Given the description of an element on the screen output the (x, y) to click on. 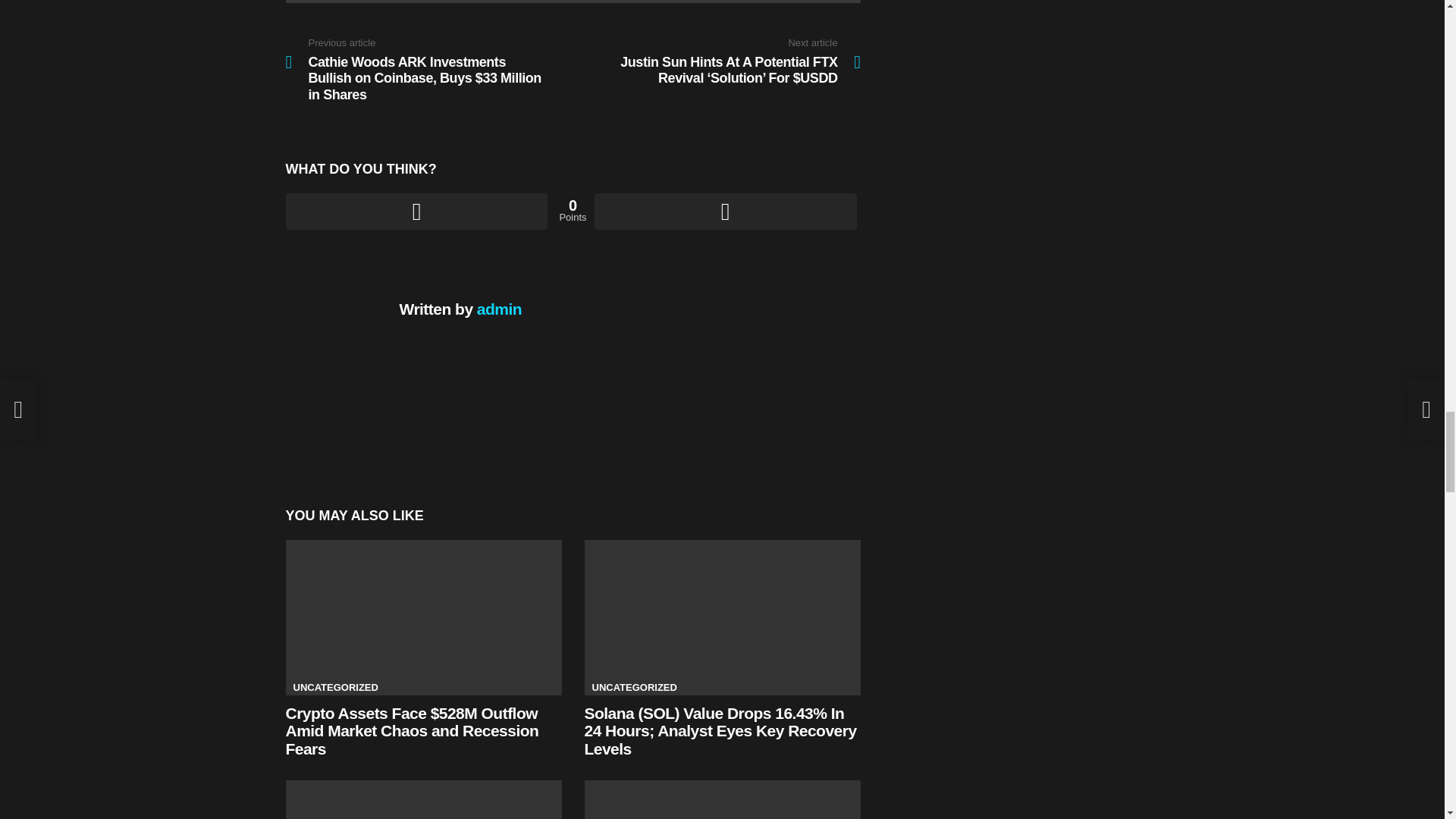
admin (499, 308)
Downvote (725, 211)
Crypto Analyst Predicts Major Opportunity Amid Market Dips (422, 799)
Downvote (725, 211)
Upvote (416, 211)
Upvote (416, 211)
